Given the description of an element on the screen output the (x, y) to click on. 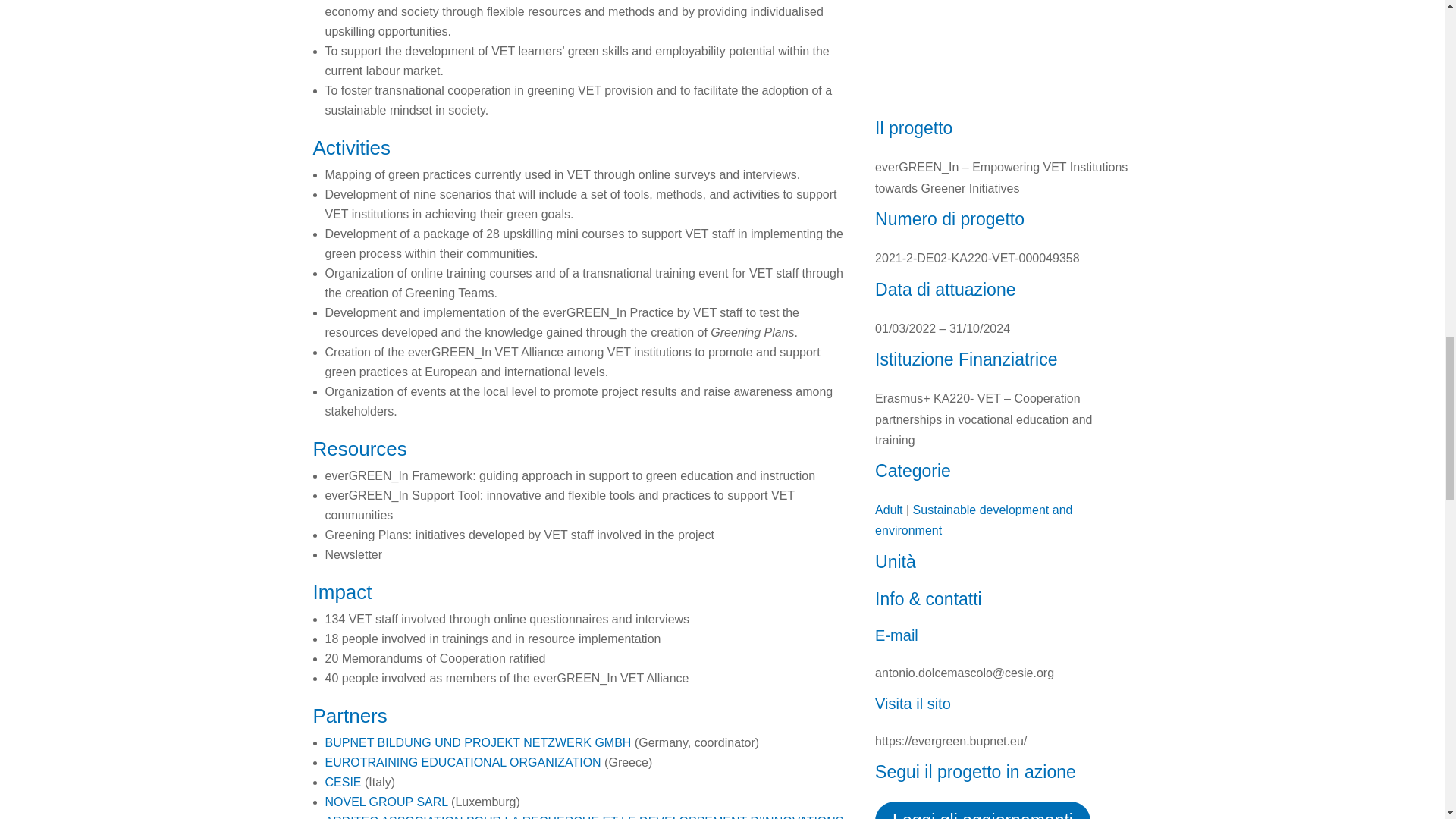
evergreen-in-logo (1003, 53)
